Given the description of an element on the screen output the (x, y) to click on. 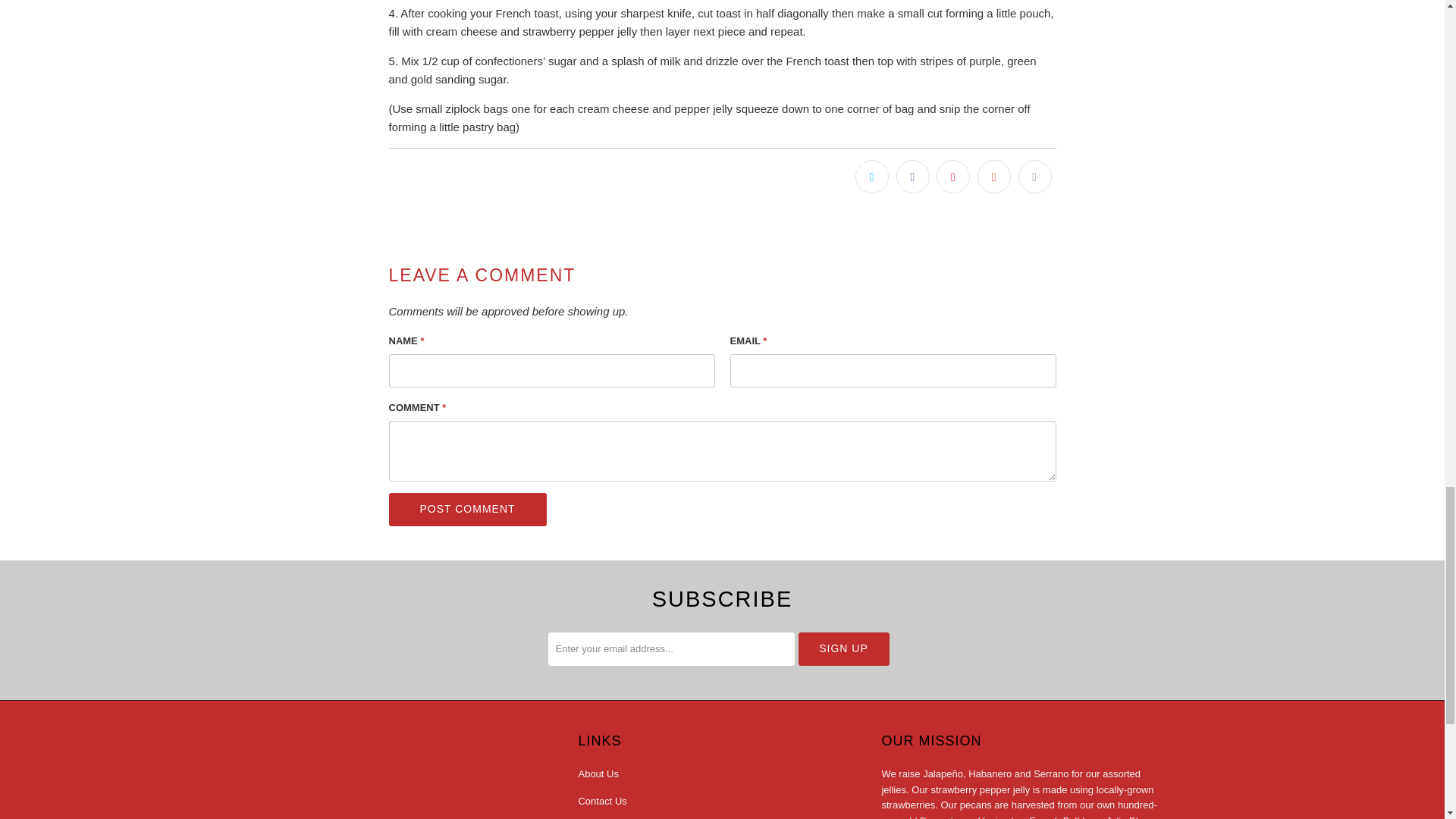
Share this on Facebook (913, 175)
Contact Us (602, 800)
Share this on Pinterest (952, 175)
Sign Up (842, 648)
Share this on Twitter (872, 175)
Post comment (467, 509)
Sign Up (842, 648)
Post comment (467, 509)
Email this to a friend (1034, 175)
About Us (597, 773)
